Given the description of an element on the screen output the (x, y) to click on. 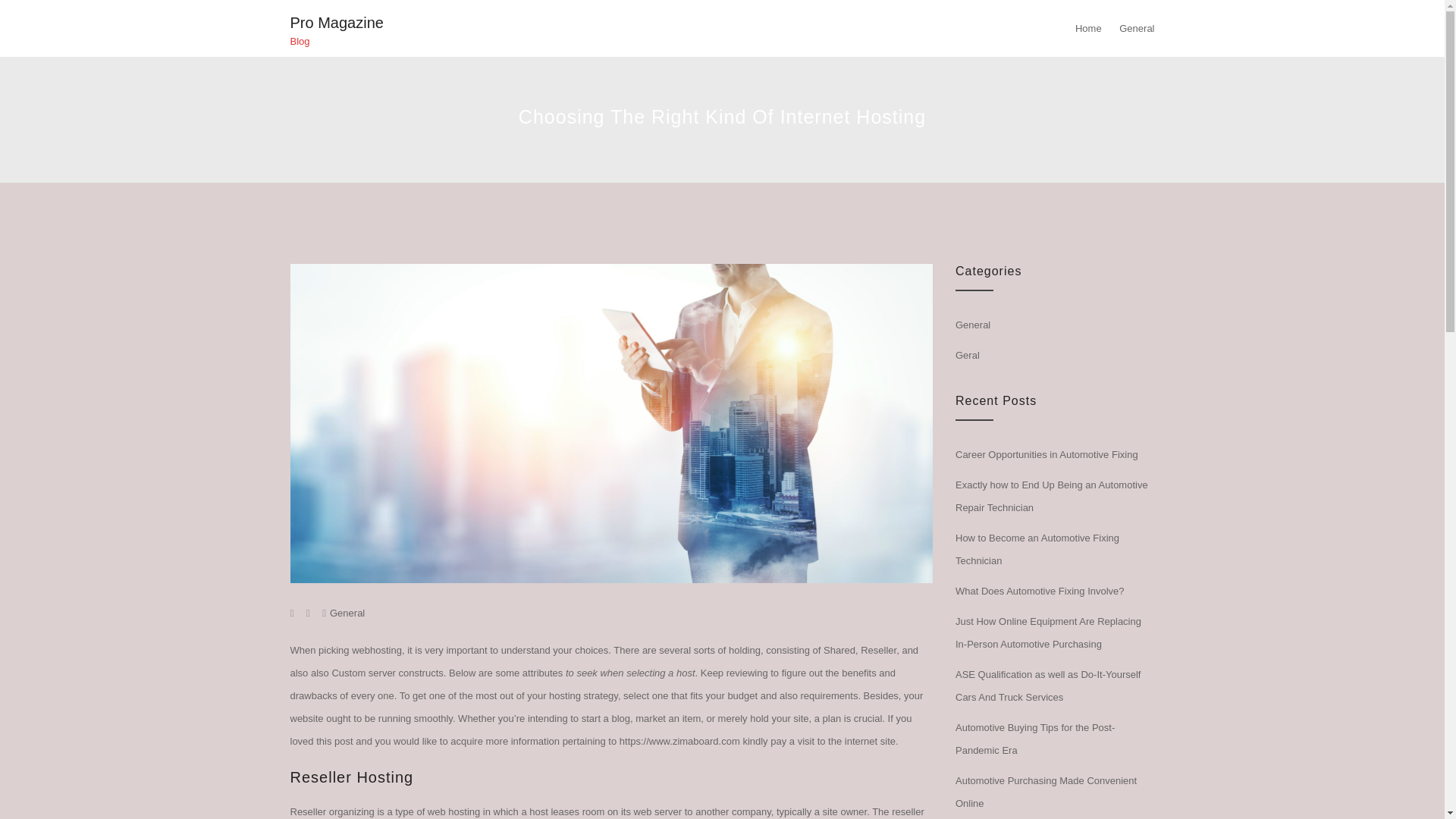
Automotive Purchasing Made Convenient Online (1046, 791)
attributes (542, 672)
How to Become an Automotive Fixing Technician (1037, 549)
Exactly how to End Up Being an Automotive Repair Technician (1051, 496)
Career Opportunities in Automotive Fixing (1046, 454)
Automotive Buying Tips for the Post-Pandemic Era (1035, 738)
General (972, 324)
Geral (967, 355)
General (347, 613)
Pro Magazine (335, 22)
What Does Automotive Fixing Involve? (1039, 591)
